Given the description of an element on the screen output the (x, y) to click on. 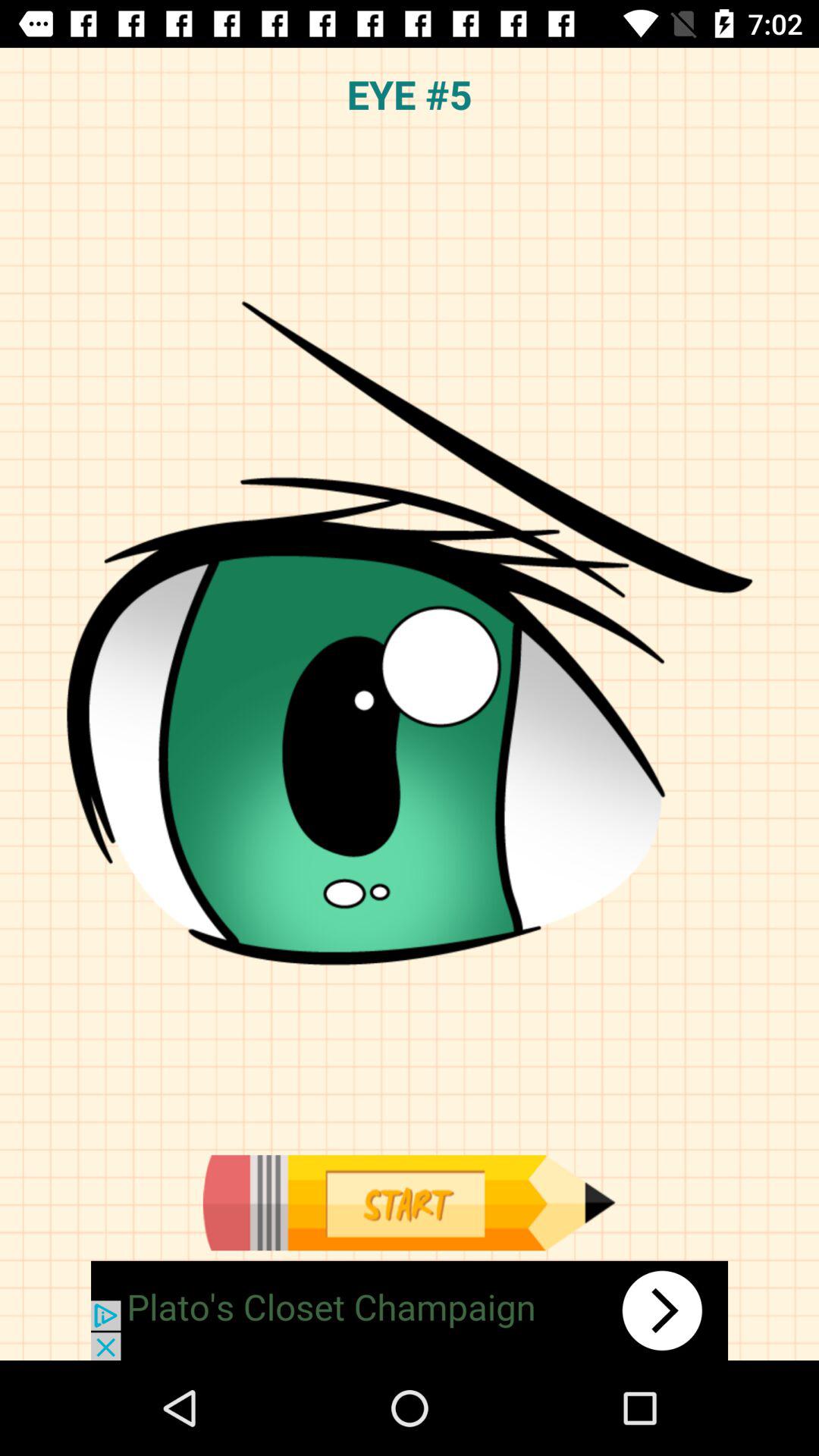
begin (409, 1202)
